Given the description of an element on the screen output the (x, y) to click on. 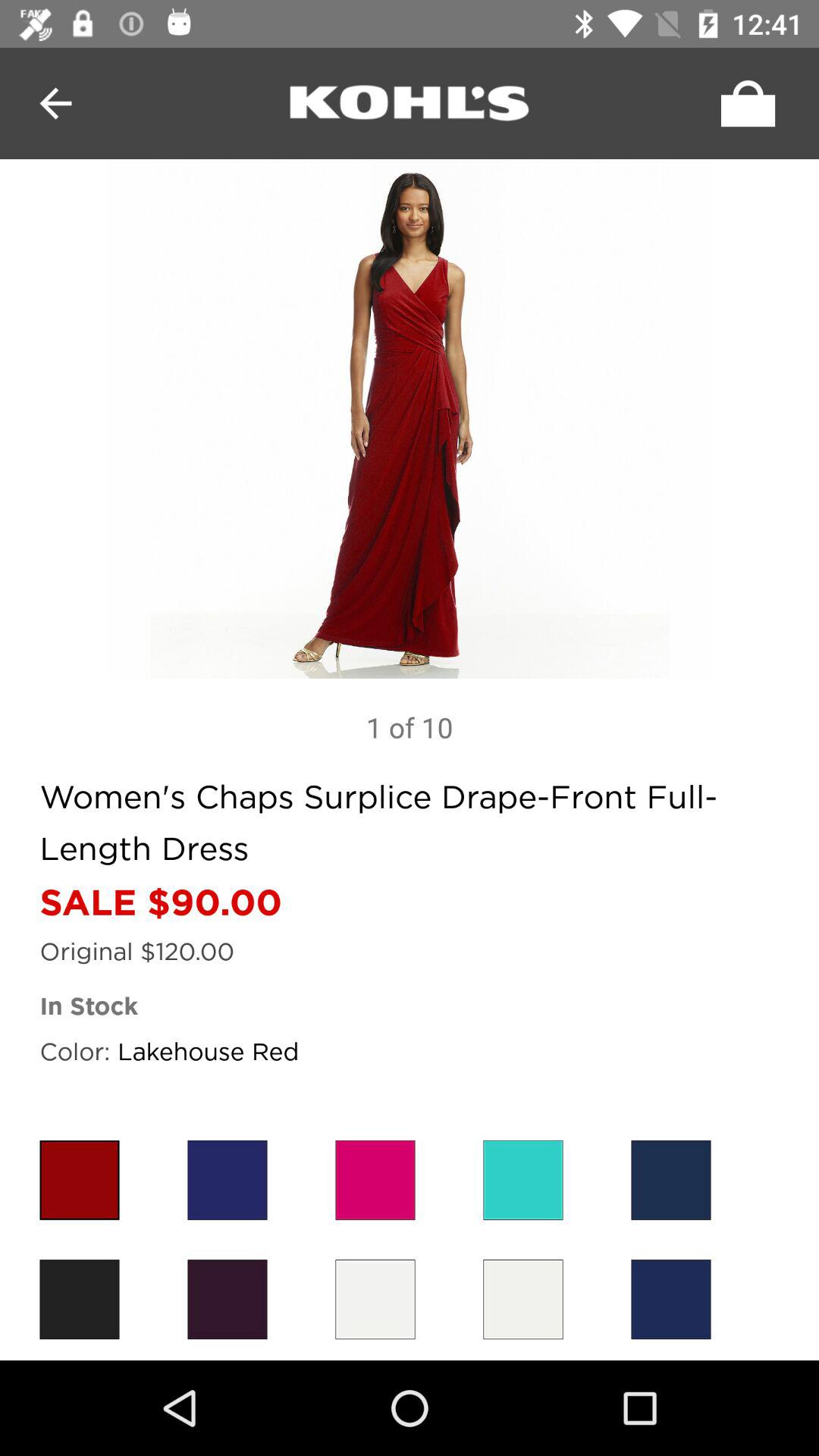
select color option (670, 1299)
